Given the description of an element on the screen output the (x, y) to click on. 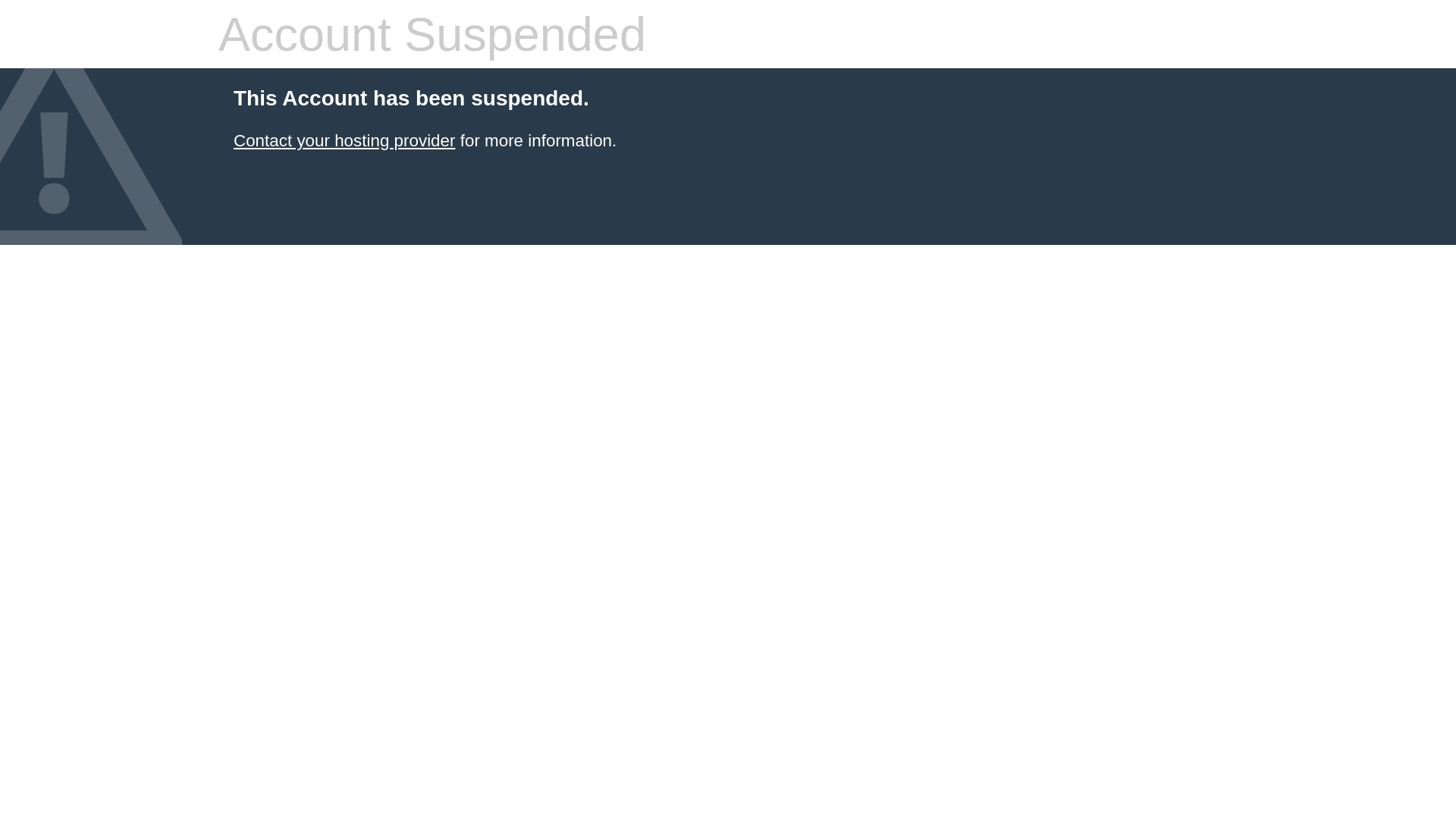
Contact your hosting provider Element type: text (344, 140)
